Given the description of an element on the screen output the (x, y) to click on. 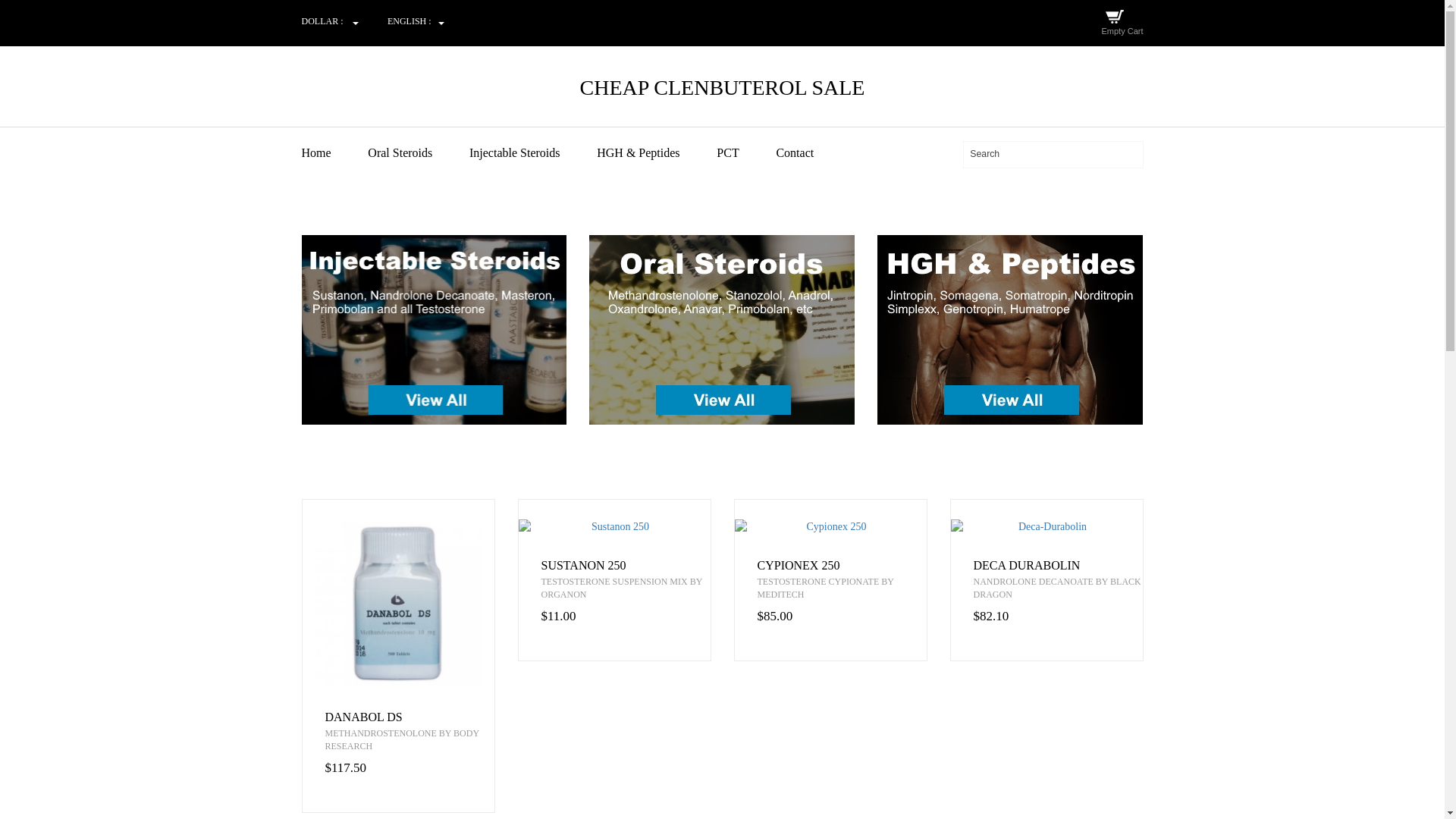
Home (333, 153)
SUSTANON 250 (625, 565)
DANABOL DS (408, 716)
Oral Steroids (416, 153)
Contact (811, 153)
DECA DURABOLIN (1058, 565)
Search (1052, 153)
PCT (744, 153)
Injectable Steroids (531, 153)
Empty Cart (1121, 31)
